Given the description of an element on the screen output the (x, y) to click on. 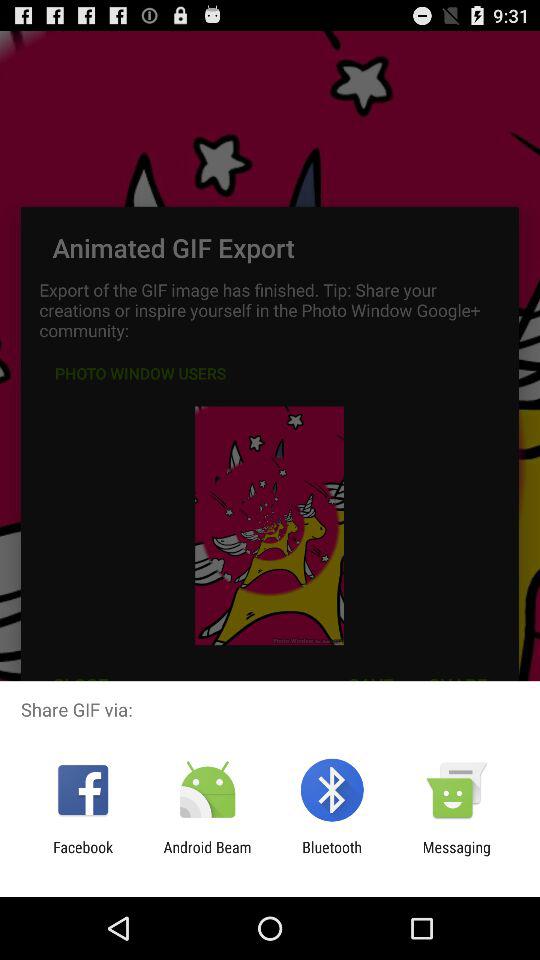
tap the android beam app (207, 856)
